Given the description of an element on the screen output the (x, y) to click on. 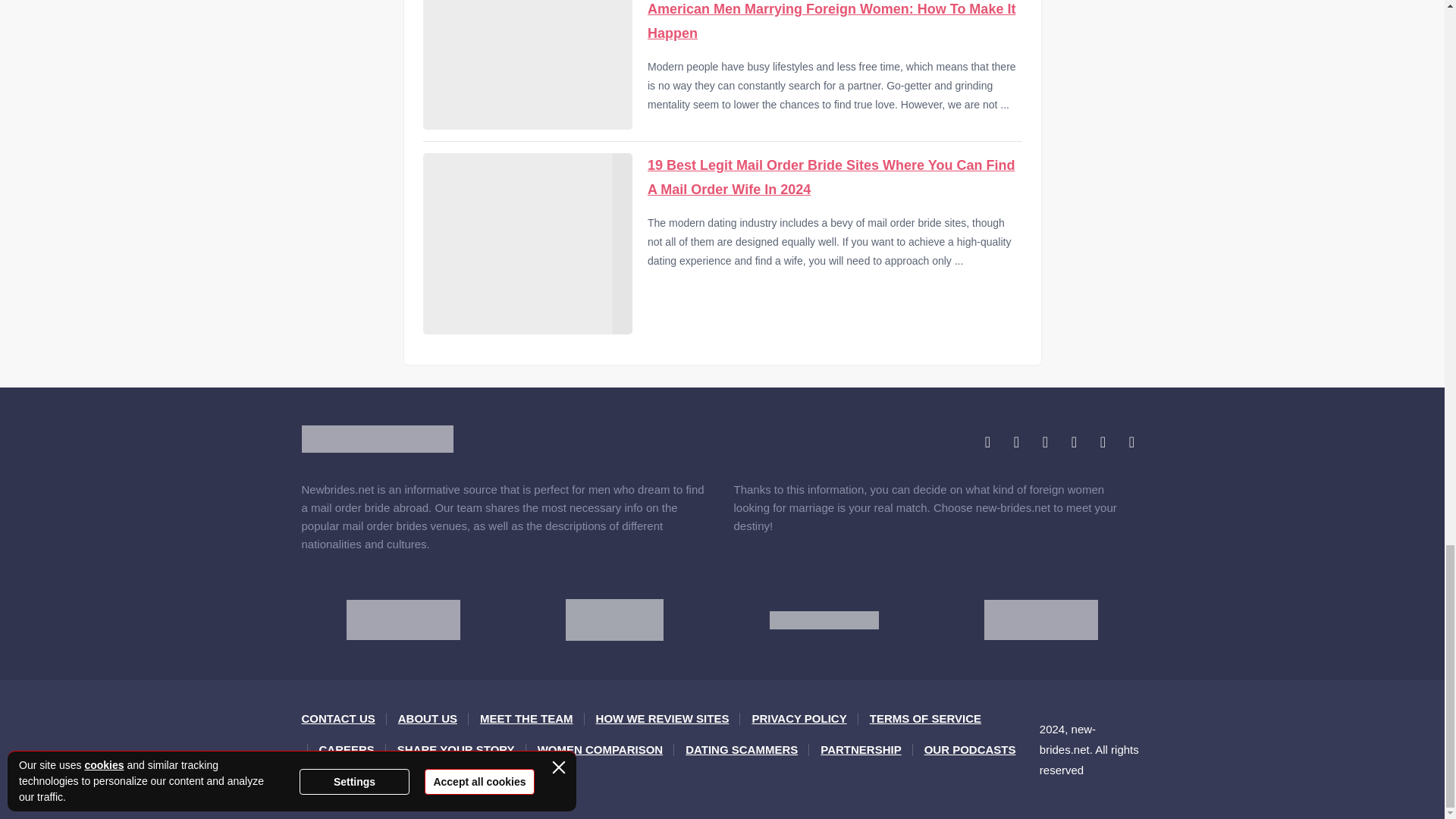
Follow us on Tiktok (1131, 441)
Follow us on Instagram (1045, 441)
Follow us on Pinterest (1074, 441)
Follow us on Youtube (1103, 441)
Follow us on Twitter (1016, 441)
Follow us on Facebook (987, 441)
